Given the description of an element on the screen output the (x, y) to click on. 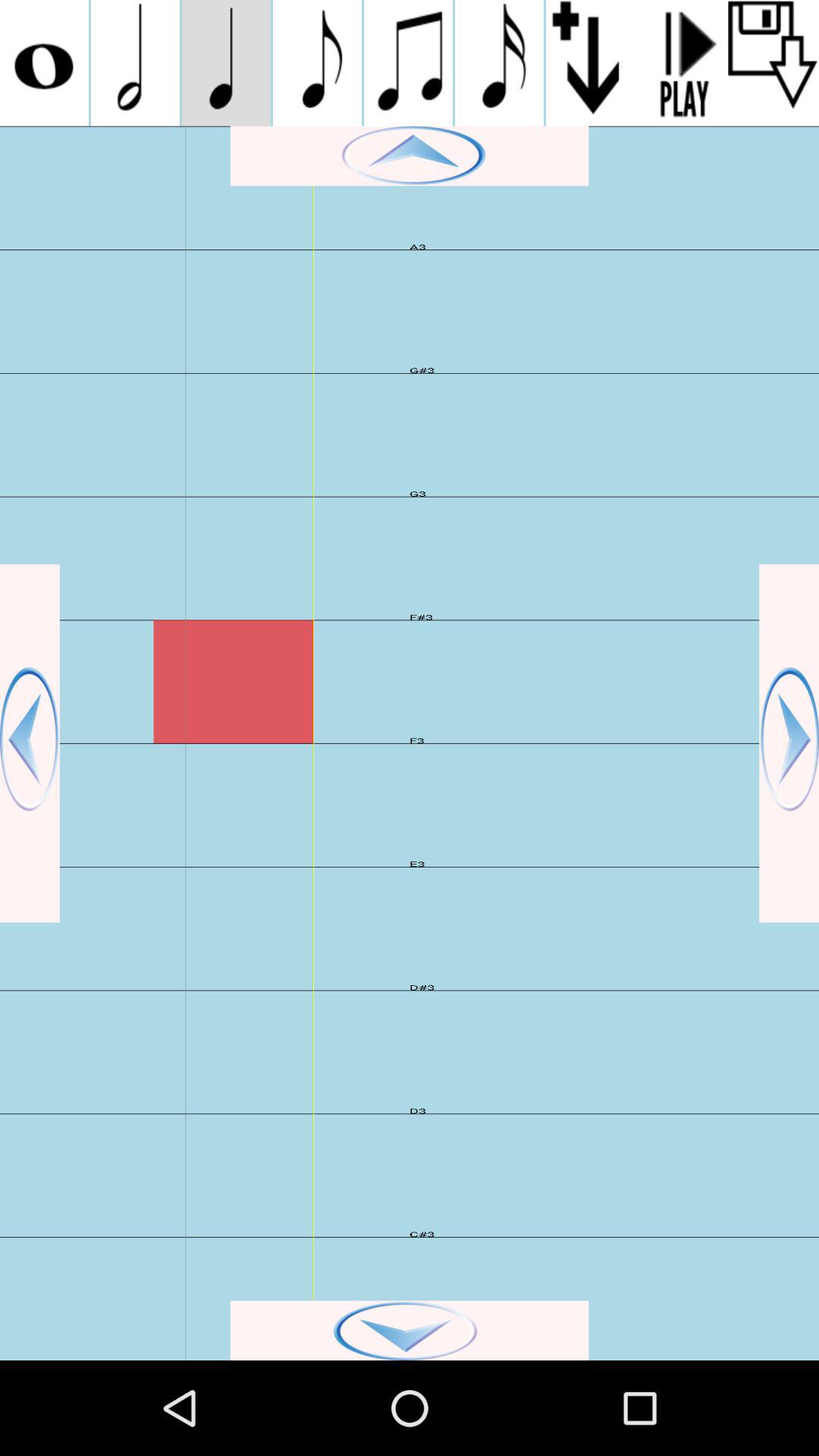
go down page (409, 1330)
